Given the description of an element on the screen output the (x, y) to click on. 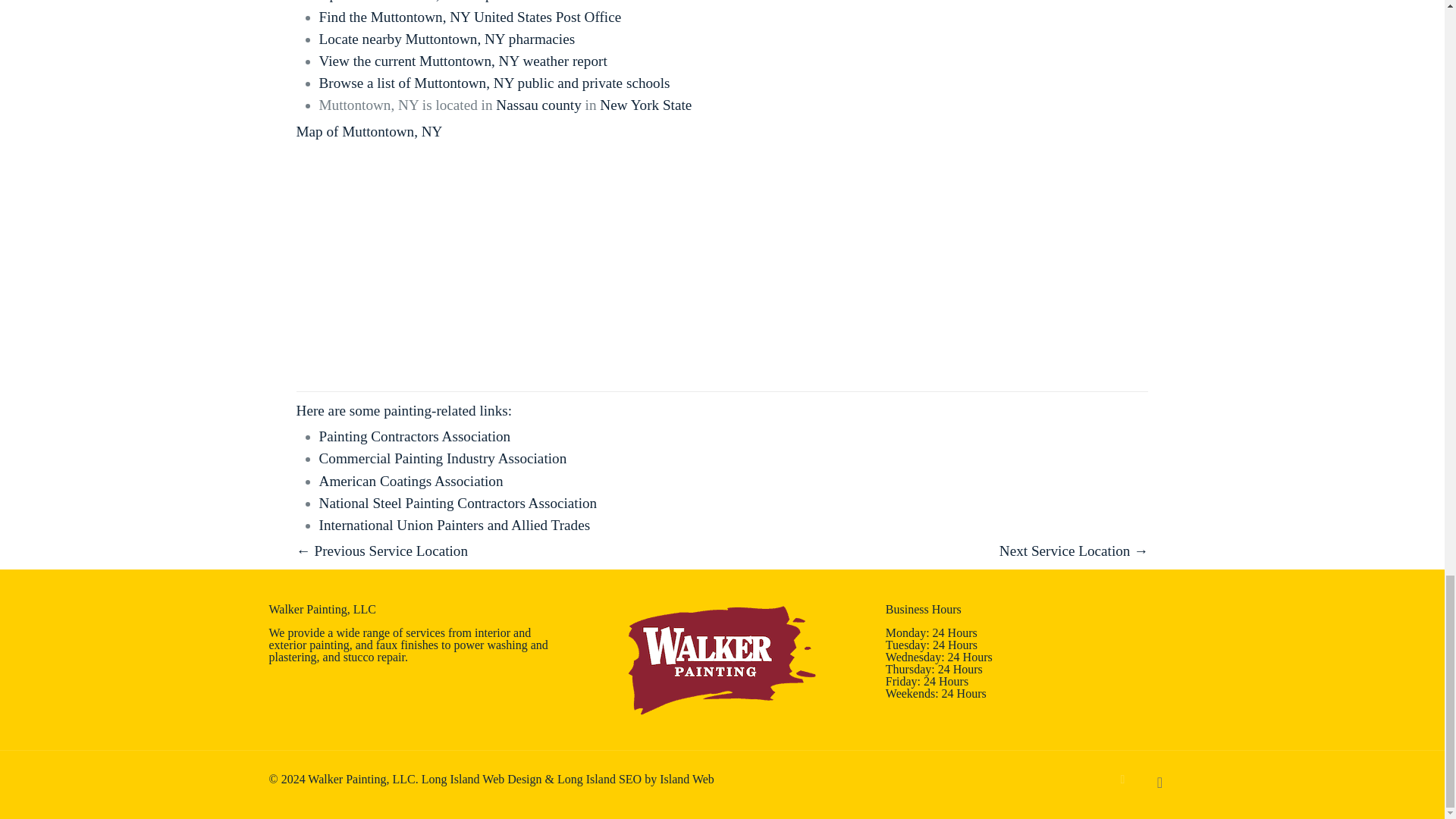
Find the Muttontown, NY United States Post Office (469, 17)
New York State (645, 105)
View the current Muttontown, NY weather report (462, 60)
Locate nearby Muttontown, NY pharmacies (446, 38)
Commercial Painting Industry Association (442, 458)
Open a Muttontown, NY map (405, 1)
Facebook (1122, 779)
interior and exterior painting (399, 638)
Browse a list of Muttontown, NY public and private schools (493, 82)
International Union Painters and Allied Trades (454, 524)
Nassau county (538, 105)
American Coatings Association (410, 480)
Painting Contractors Association (414, 436)
National Steel Painting Contractors Association (457, 503)
power washing (489, 644)
